Given the description of an element on the screen output the (x, y) to click on. 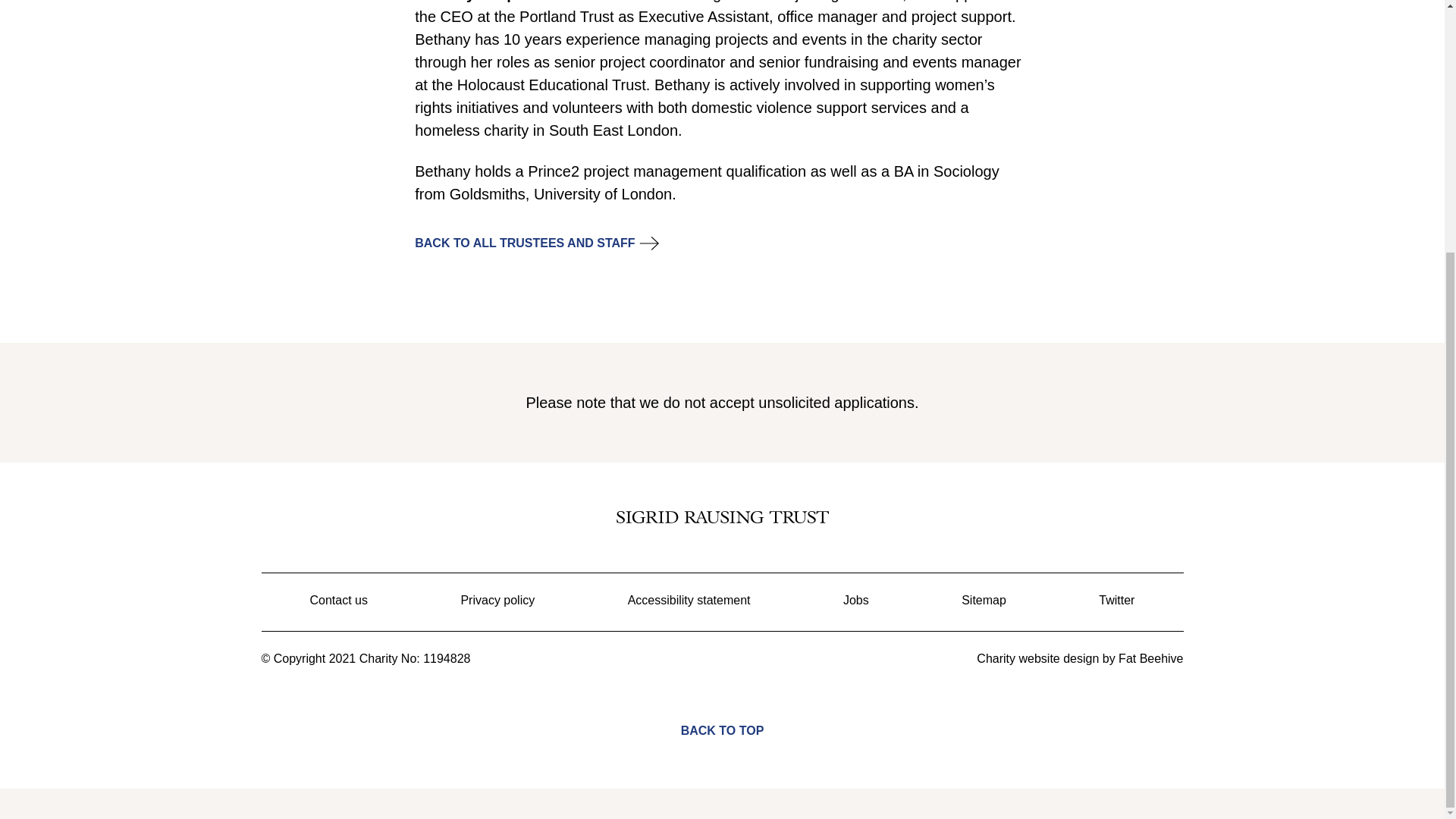
Contact us (337, 599)
Sitemap (983, 599)
BACK TO TOP (721, 718)
Accessibility statement (689, 599)
Fat Beehive (1150, 658)
Twitter (1116, 599)
BACK TO ALL TRUSTEES AND STAFF (524, 242)
Jobs (856, 599)
Privacy policy (497, 599)
